Given the description of an element on the screen output the (x, y) to click on. 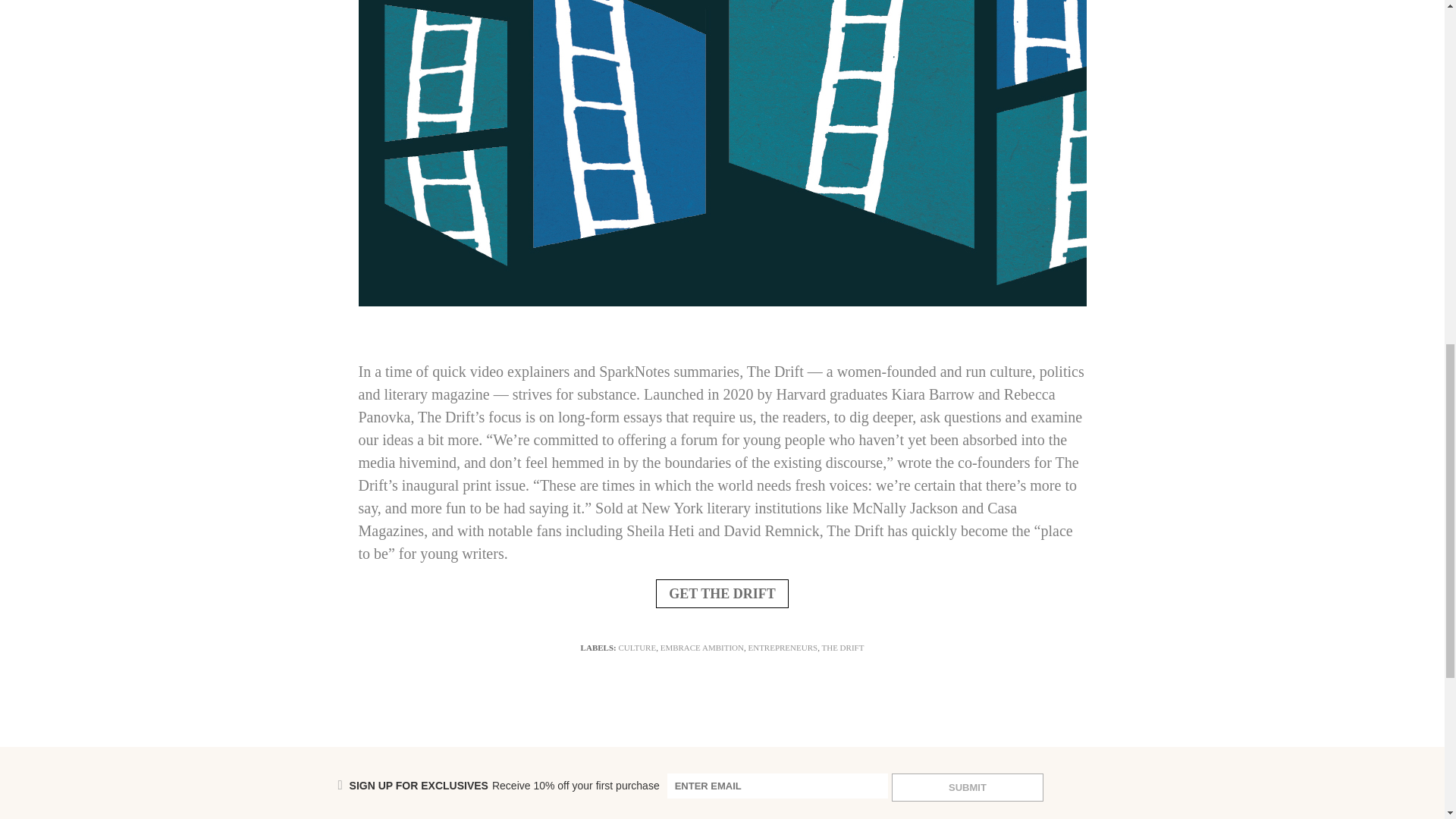
ENTREPRENEURS (782, 646)
THE DRIFT (842, 646)
SUBMIT (967, 787)
GET THE DRIFT (721, 593)
CULTURE (636, 646)
EMBRACE AMBITION (702, 646)
